Given the description of an element on the screen output the (x, y) to click on. 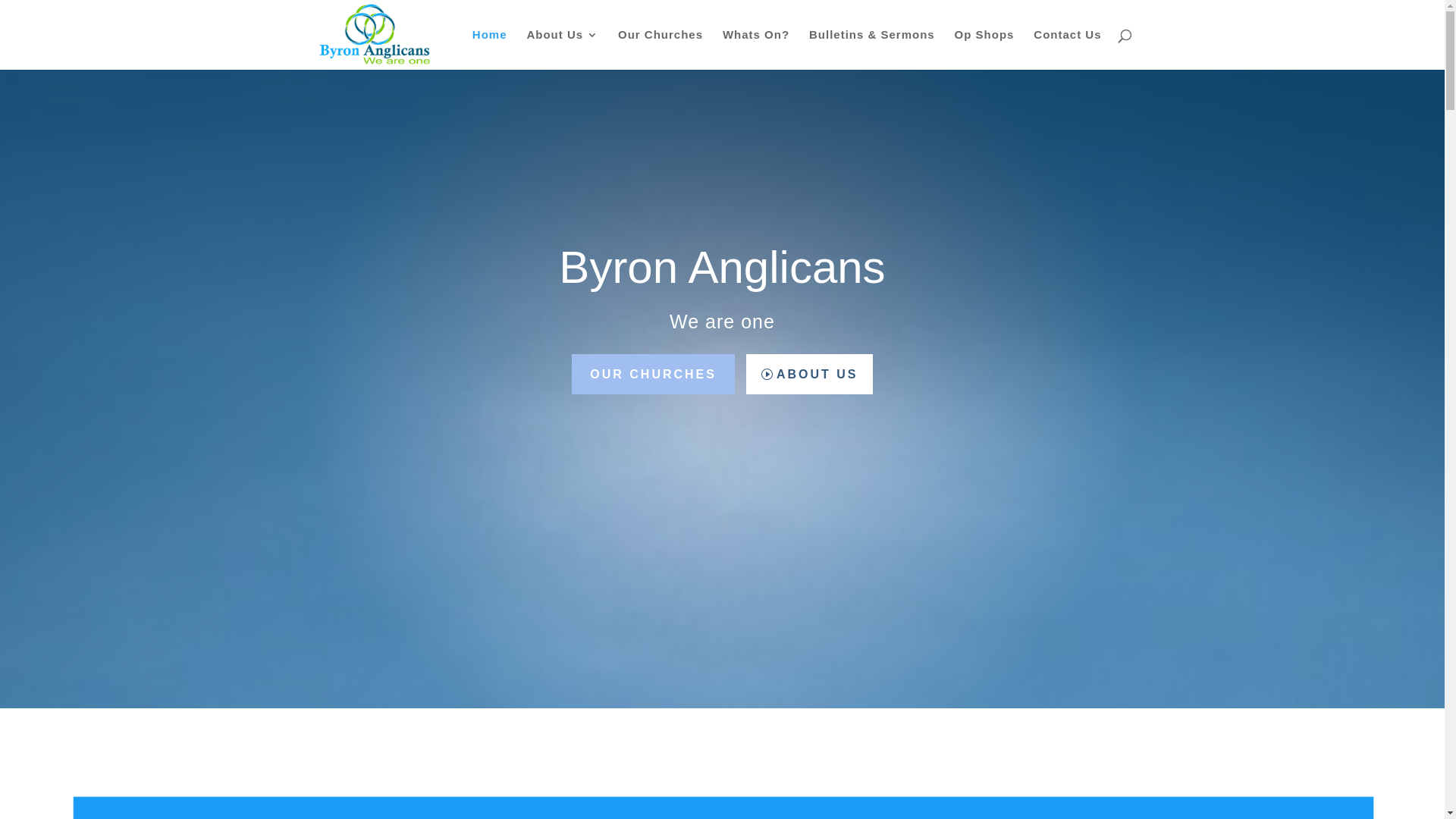
About Us Element type: text (562, 49)
Op Shops Element type: text (984, 49)
Home Element type: text (489, 49)
OUR CHURCHES Element type: text (652, 374)
Bulletins & Sermons Element type: text (872, 49)
ABOUT US Element type: text (809, 374)
Contact Us Element type: text (1067, 49)
Whats On? Element type: text (755, 49)
Our Churches Element type: text (660, 49)
